Given the description of an element on the screen output the (x, y) to click on. 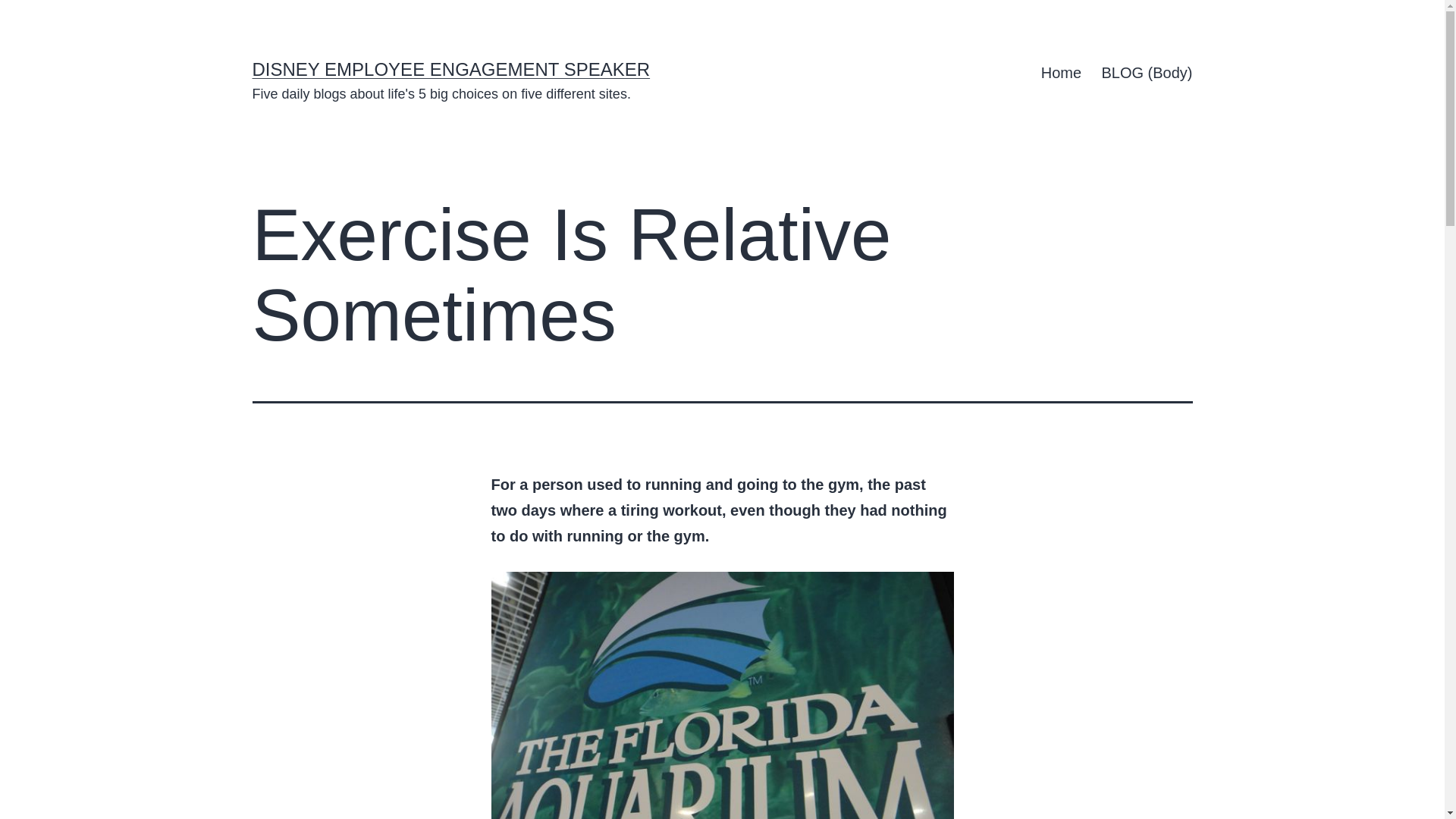
DISNEY EMPLOYEE ENGAGEMENT SPEAKER (450, 68)
Home (1061, 72)
Tampa, Florida - School Field Trip (722, 695)
